Given the description of an element on the screen output the (x, y) to click on. 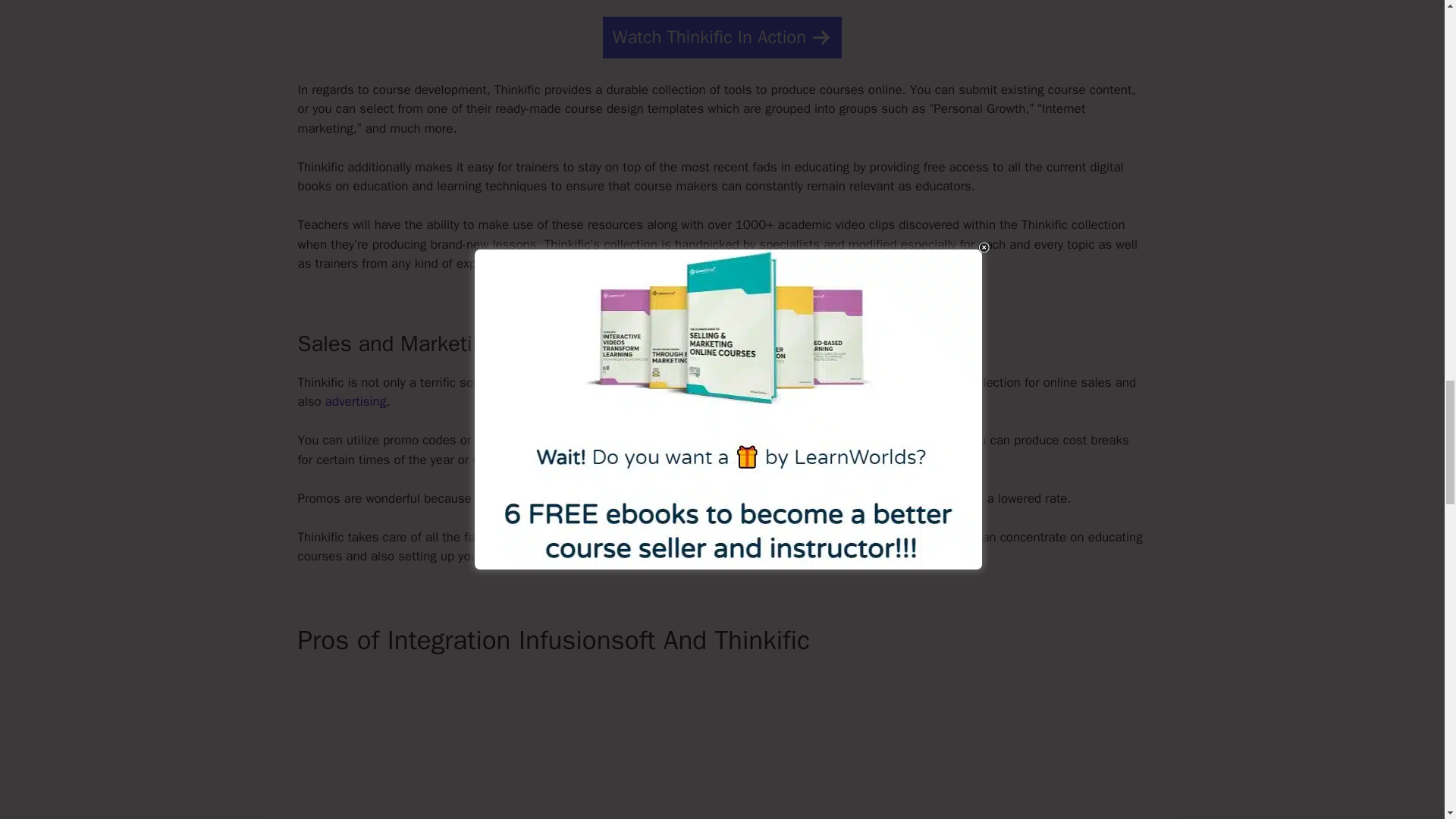
advertising (354, 401)
Watch Thinkific In Action (722, 37)
